Given the description of an element on the screen output the (x, y) to click on. 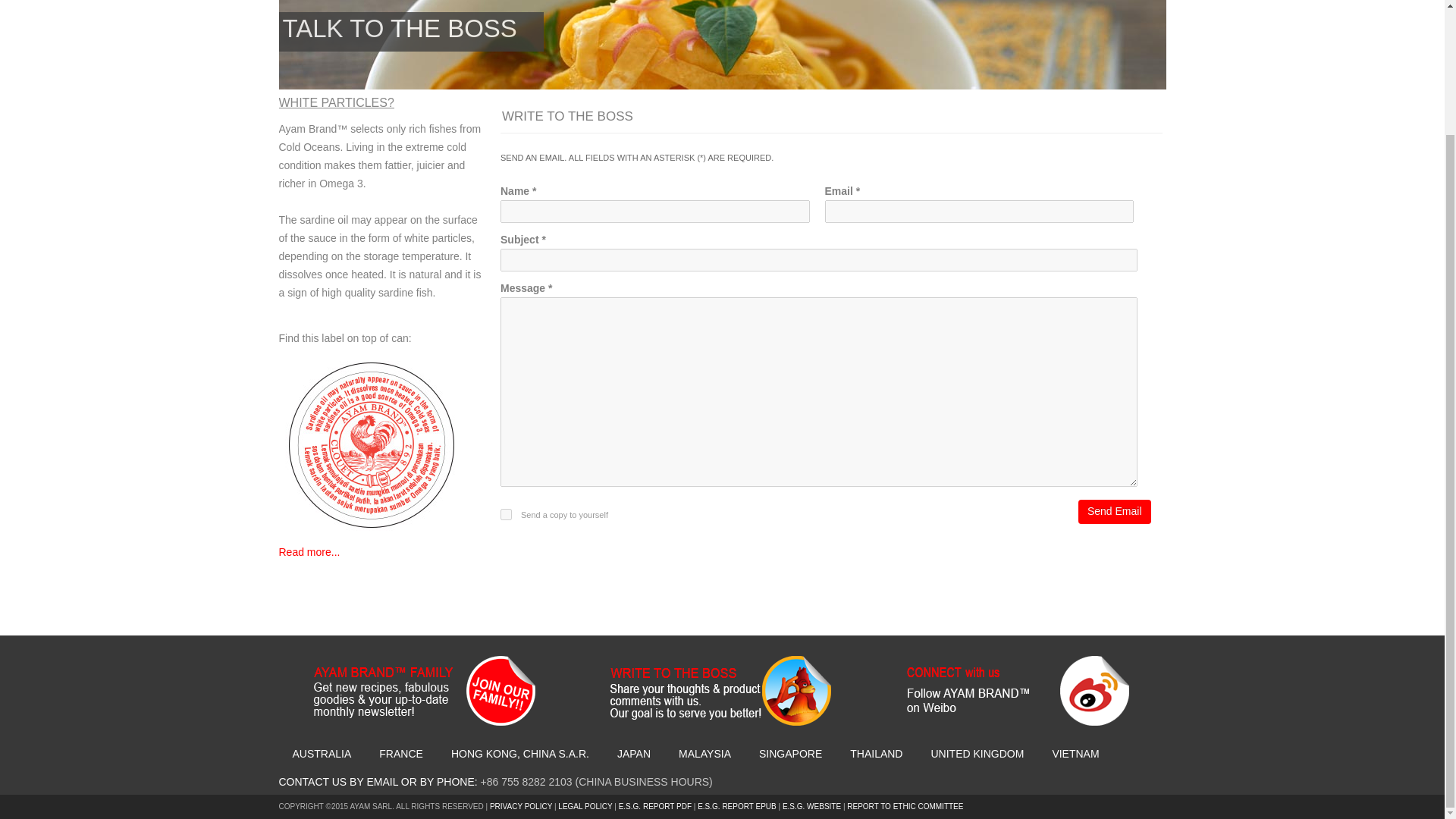
HONG KONG, CHINA S.A.R. (520, 753)
AUSTRALIA (322, 753)
UNITED KINGDOM (976, 753)
1 (506, 514)
THAILAND (875, 753)
FRANCE (400, 753)
SINGAPORE (790, 753)
CONTACT US BY EMAIL OR BY PHONE: (379, 781)
JAPAN (633, 753)
PRIVACY POLICY (521, 806)
Send Email (1114, 511)
Read more... (309, 551)
VIETNAM (1075, 753)
MALAYSIA (704, 753)
